Given the description of an element on the screen output the (x, y) to click on. 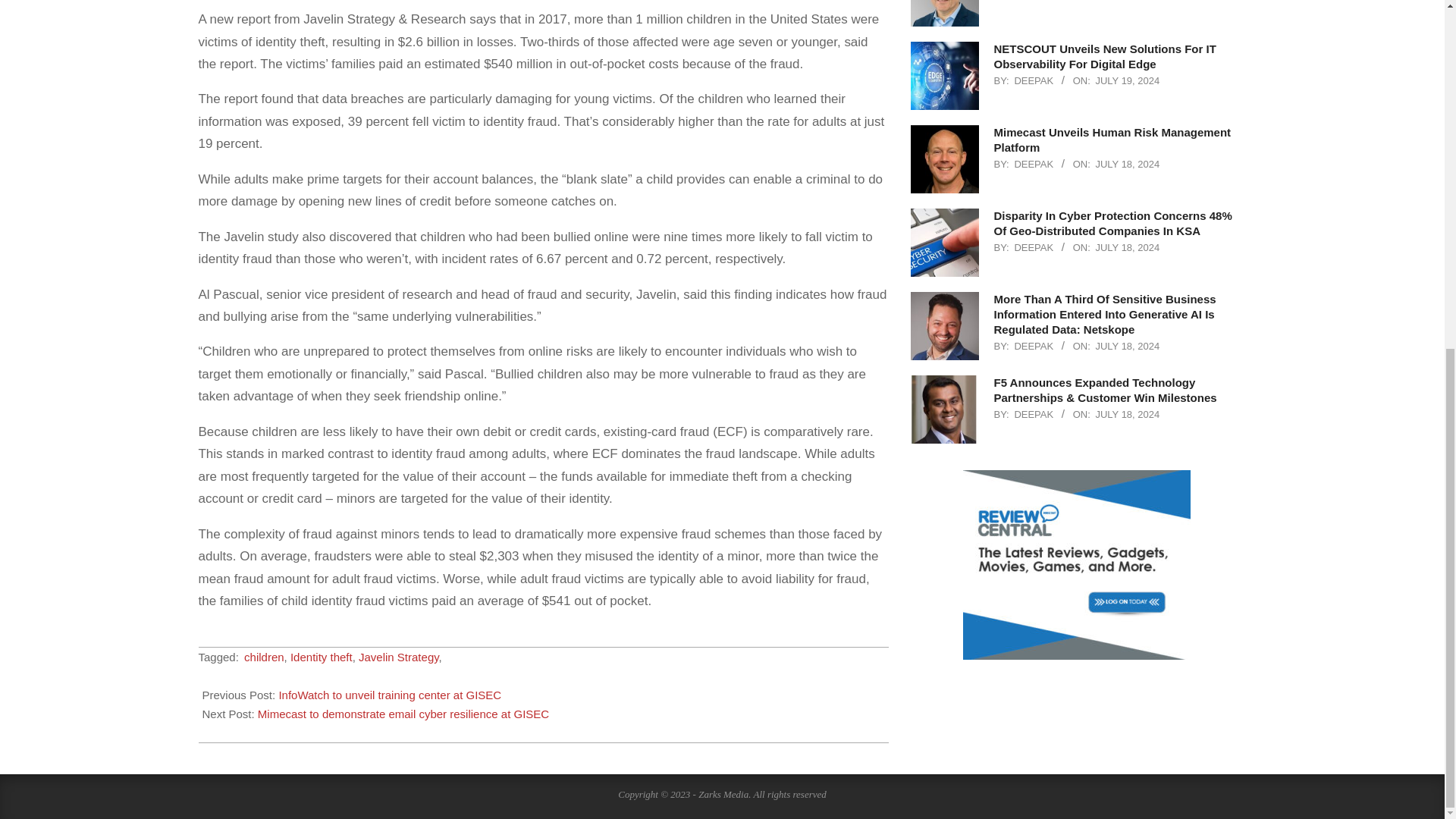
Friday, July 19, 2024, 9:08 am (1126, 80)
Posts by Deepak (1032, 346)
Thursday, July 18, 2024, 10:58 am (1126, 414)
Thursday, July 18, 2024, 4:03 pm (1126, 163)
Thursday, July 18, 2024, 3:24 pm (1126, 247)
Posts by Deepak (1032, 80)
Posts by Deepak (1032, 247)
Thursday, July 18, 2024, 11:42 am (1126, 346)
Posts by Deepak (1032, 163)
Posts by Deepak (1032, 414)
